Given the description of an element on the screen output the (x, y) to click on. 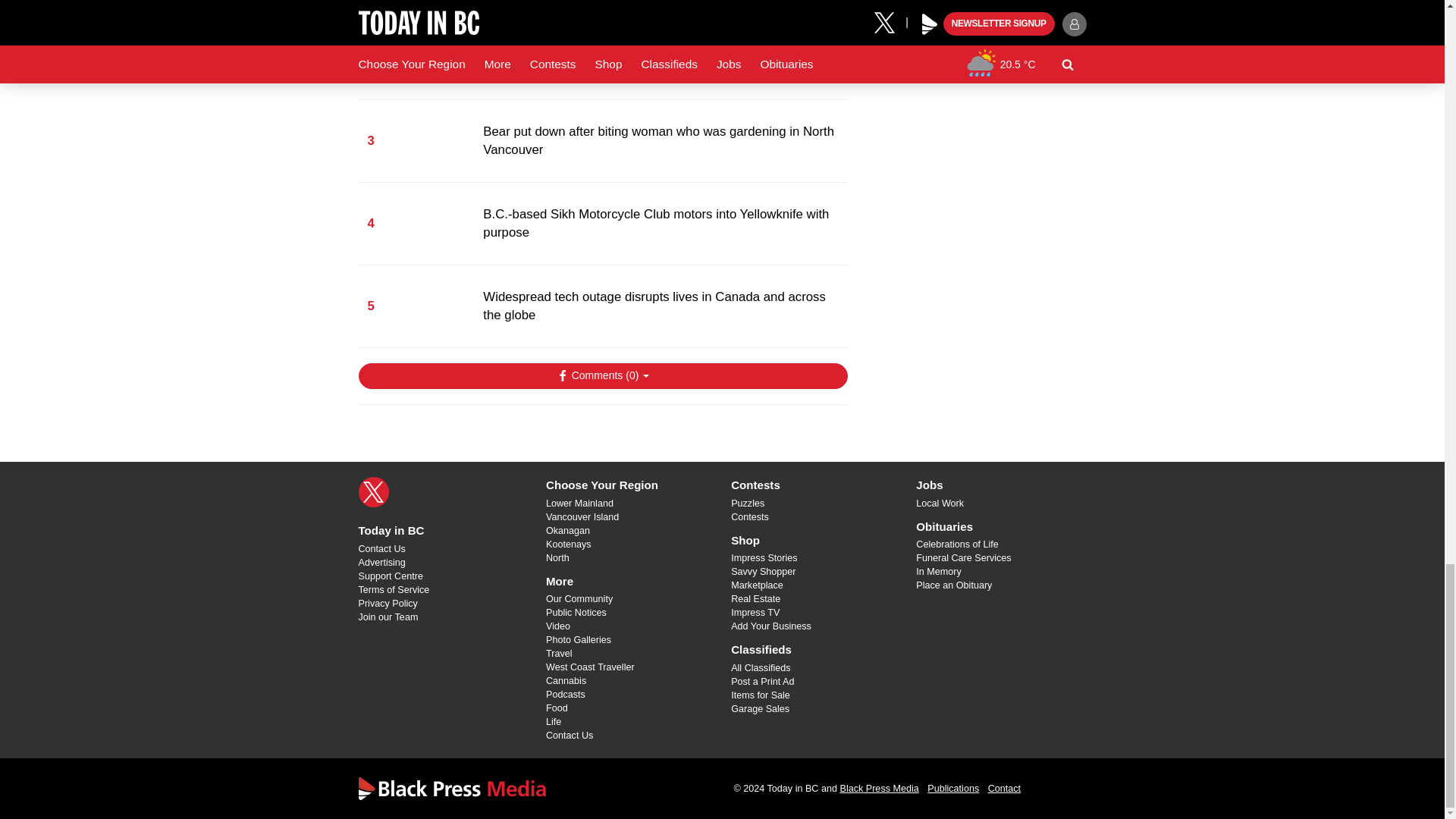
X (373, 491)
Show Comments (602, 376)
